Given the description of an element on the screen output the (x, y) to click on. 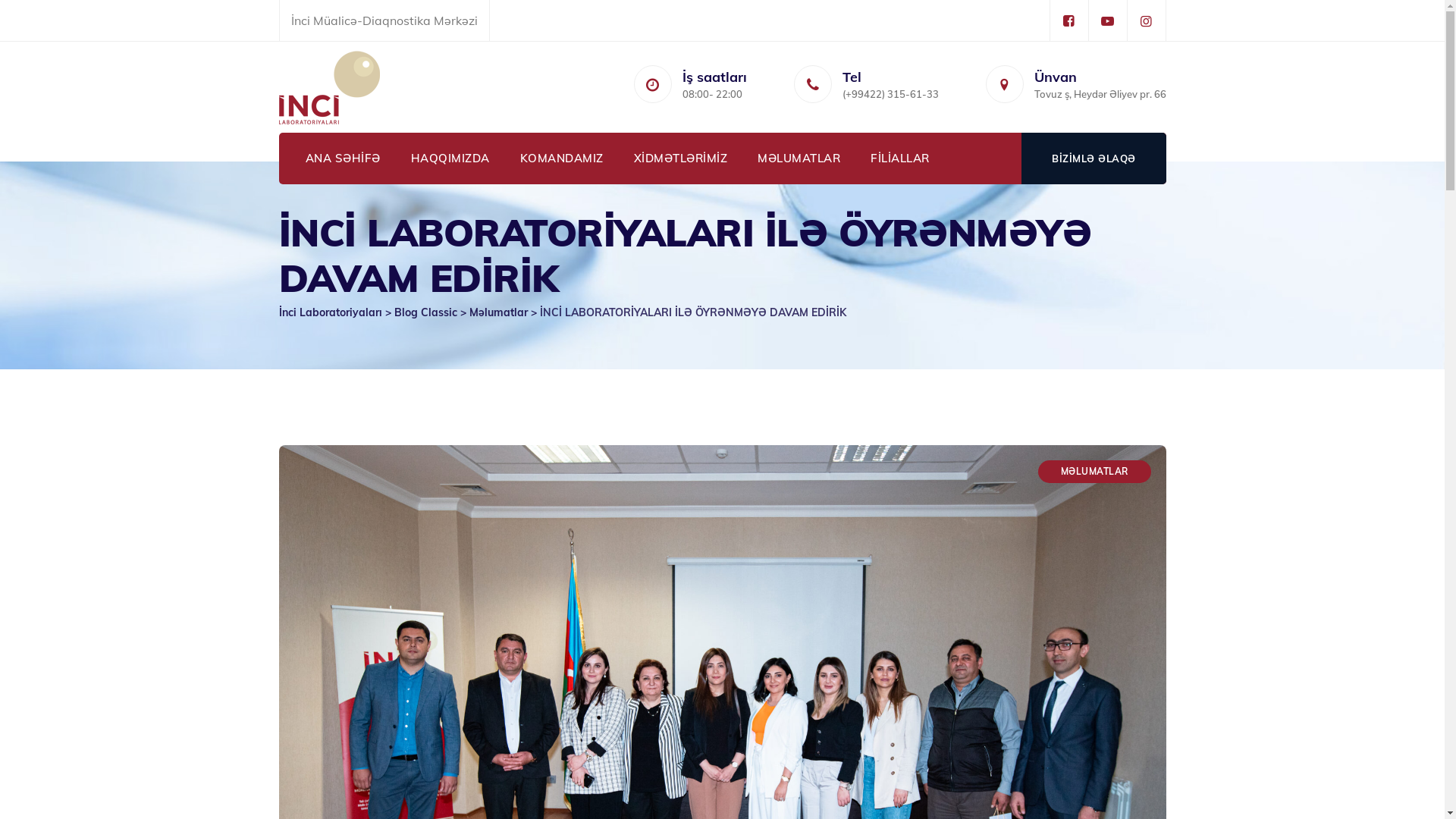
HAQQIMIZDA Element type: text (450, 158)
KOMANDAMIZ Element type: text (561, 158)
Tel
(+99422) 315-61-33 Element type: text (889, 86)
Blog Classic Element type: text (425, 312)
